Given the description of an element on the screen output the (x, y) to click on. 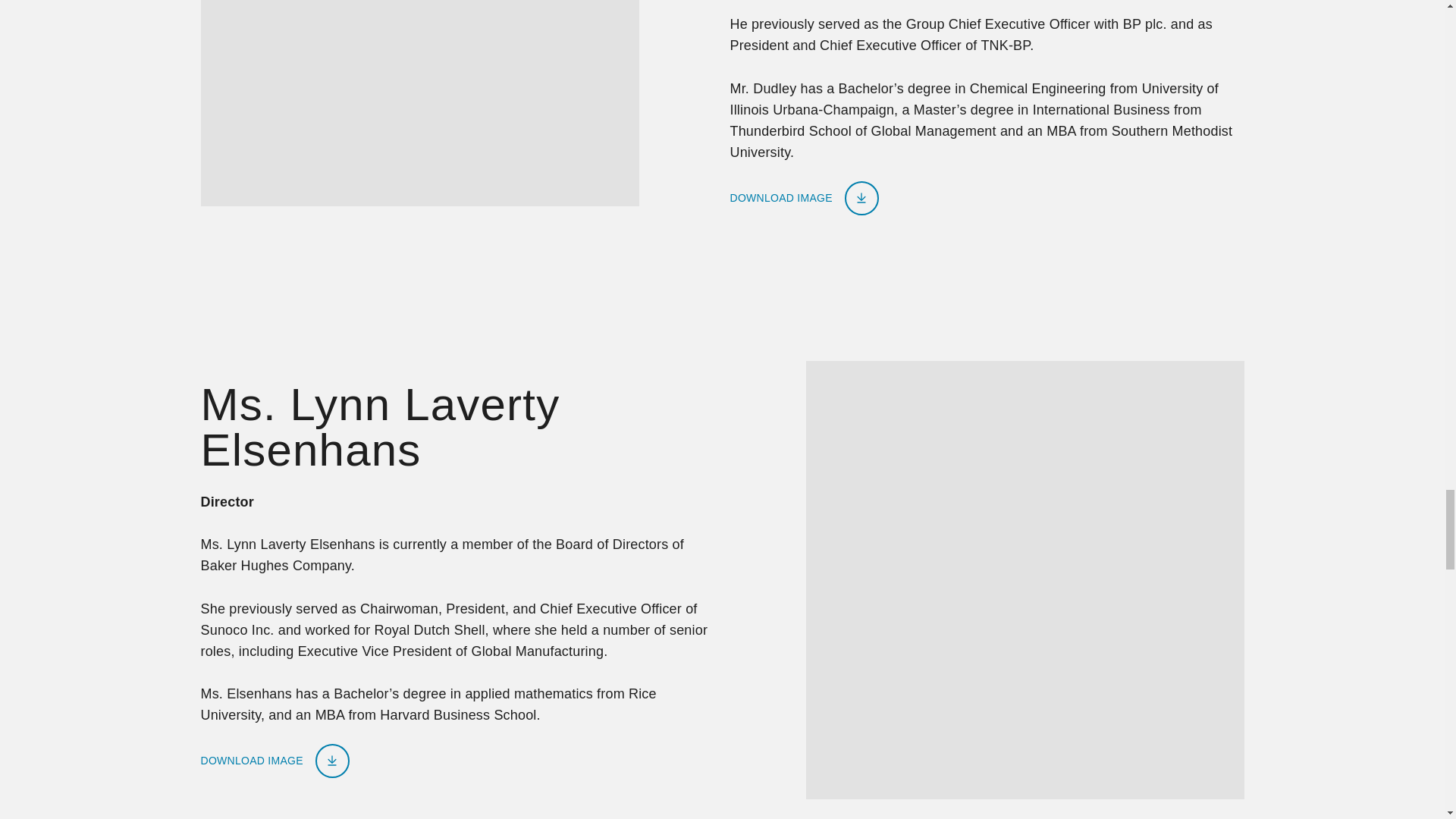
DOWNLOAD IMAGE (274, 760)
DOWNLOAD IMAGE (803, 197)
